Given the description of an element on the screen output the (x, y) to click on. 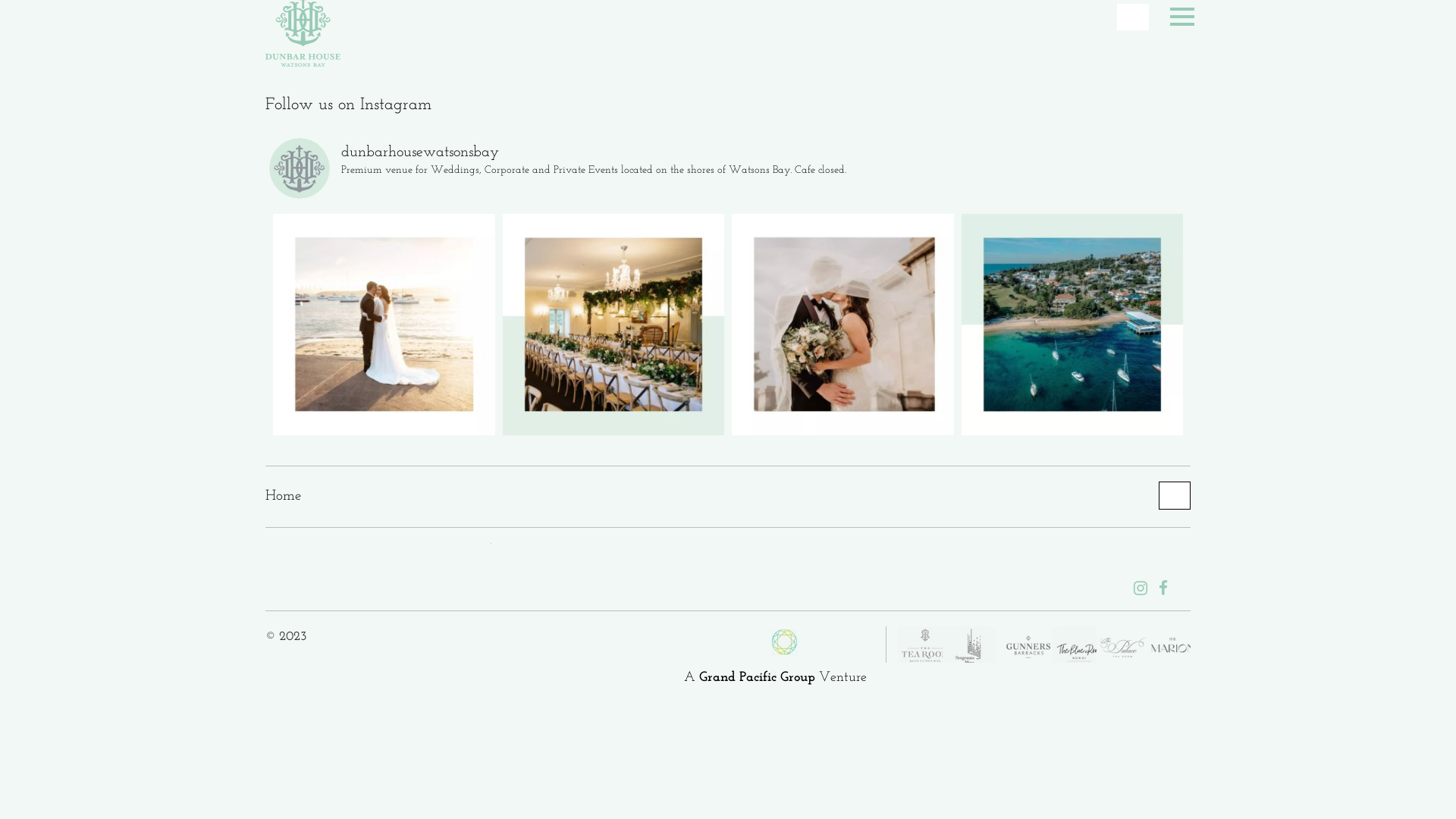
Home Element type: text (283, 496)
Grand Pacific Group Element type: text (757, 677)
